Given the description of an element on the screen output the (x, y) to click on. 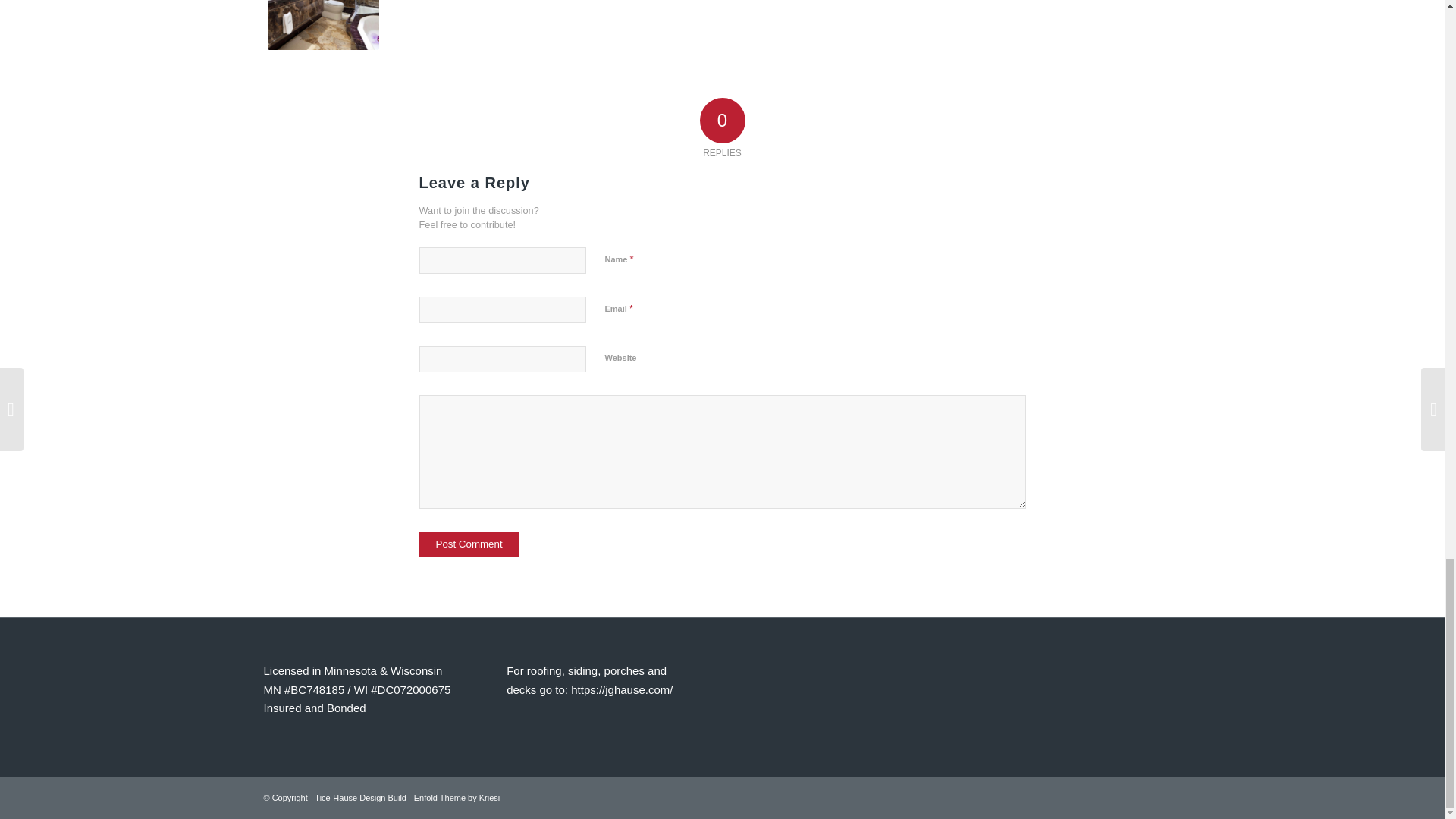
Post Comment (468, 543)
Post Comment (468, 543)
